Given the description of an element on the screen output the (x, y) to click on. 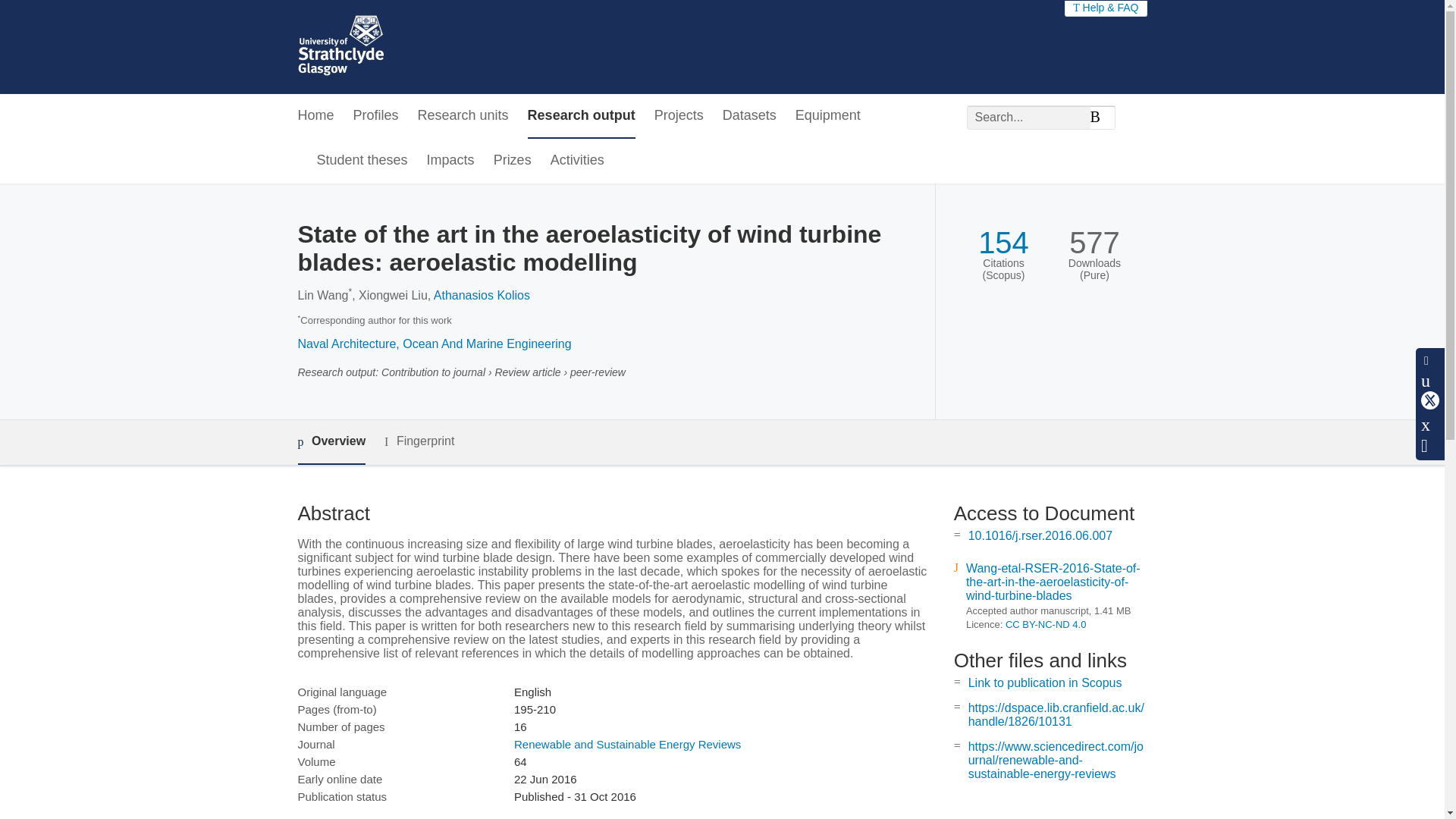
Research output (580, 116)
Equipment (827, 116)
CC BY-NC-ND 4.0 (1046, 624)
Student theses (362, 160)
Naval Architecture, Ocean And Marine Engineering (433, 343)
Fingerprint (419, 441)
Profiles (375, 116)
Link to publication in Scopus (1045, 682)
Overview (331, 442)
Research units (462, 116)
Activities (577, 160)
University of Strathclyde Home (339, 46)
Datasets (749, 116)
Athanasios Kolios (481, 295)
